Given the description of an element on the screen output the (x, y) to click on. 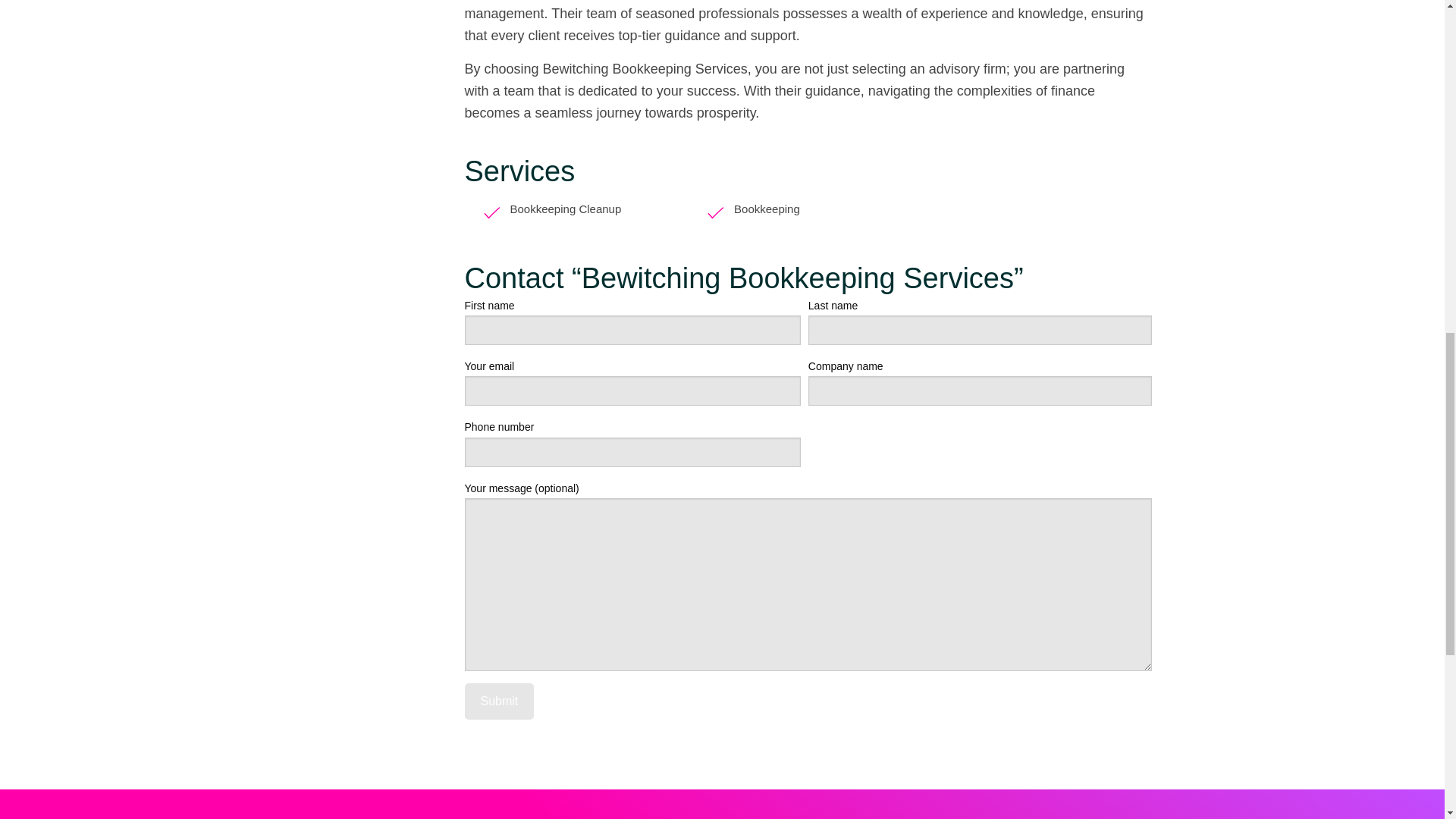
Submit (499, 701)
Submit (499, 701)
